Given the description of an element on the screen output the (x, y) to click on. 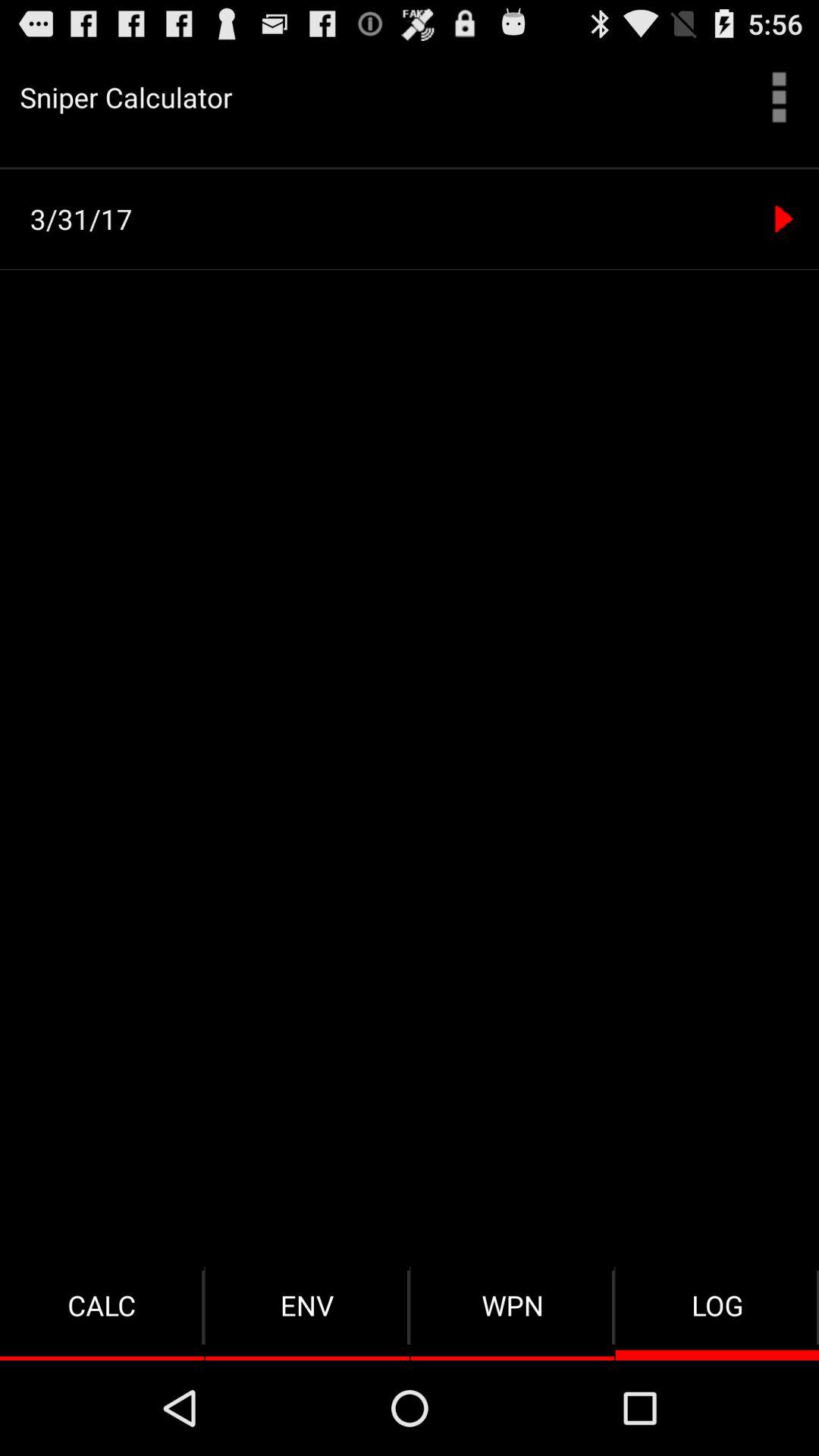
turn on the item above 3/31/17 (409, 168)
